Given the description of an element on the screen output the (x, y) to click on. 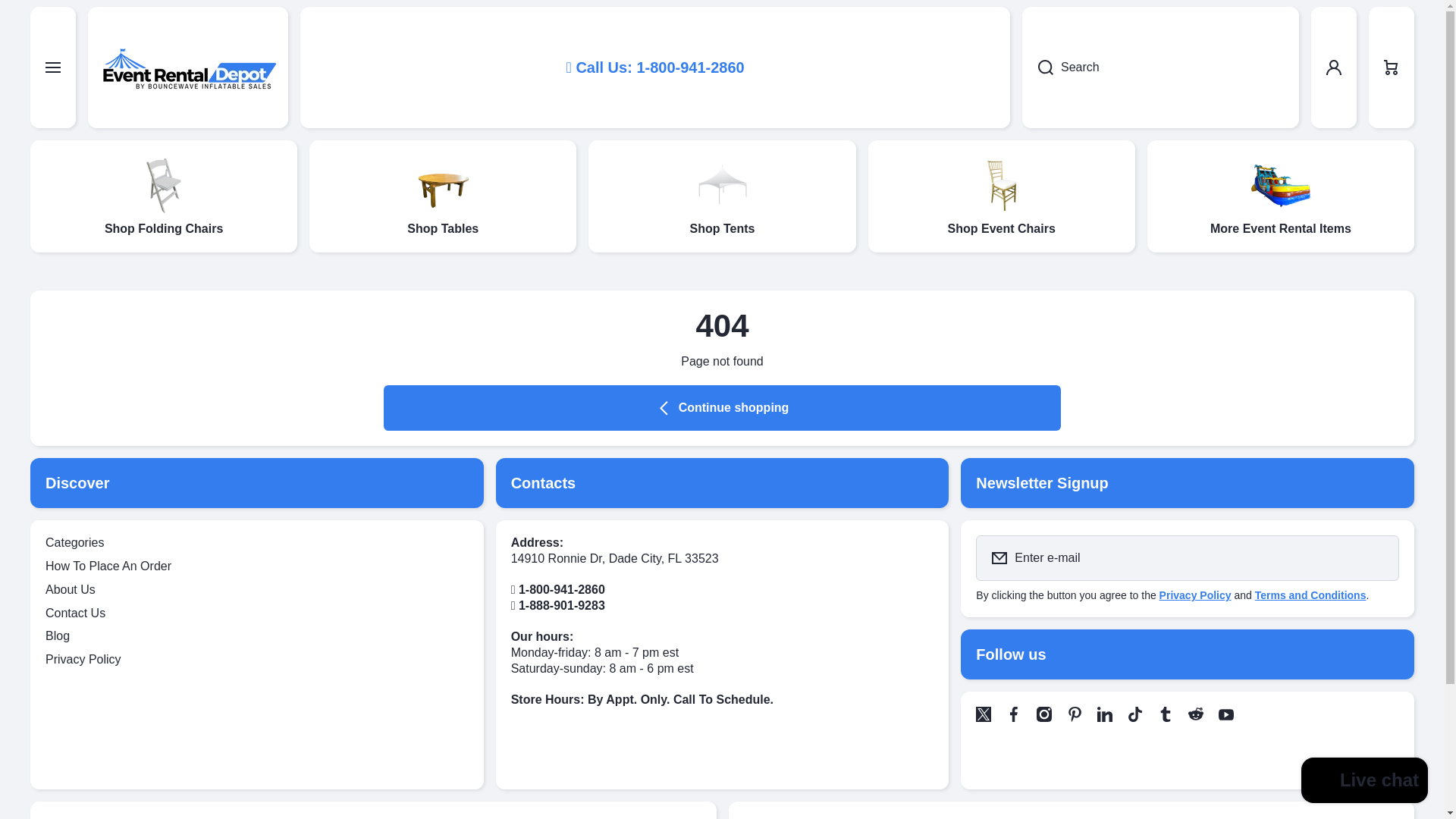
Categories (74, 539)
Shopify online store chat (1364, 781)
About Us (70, 586)
Privacy Policy (1194, 594)
Blog (57, 632)
Continue shopping (722, 407)
More Event Rental Items (1280, 196)
Shop Folding Chairs (163, 196)
How To Place An Order (108, 562)
Contact Us (74, 609)
